Given the description of an element on the screen output the (x, y) to click on. 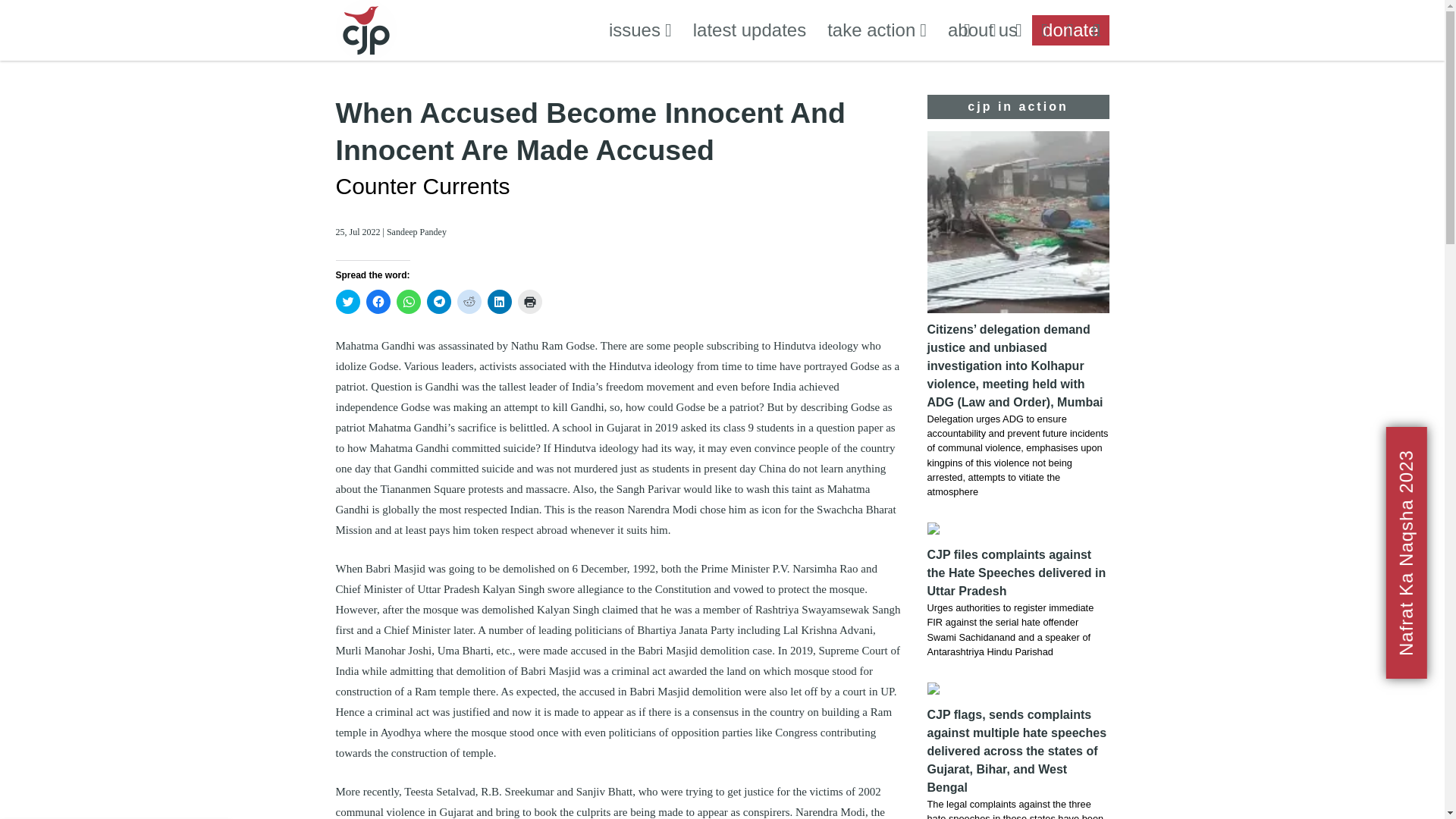
Click to share on Reddit (468, 301)
Click to share on LinkedIn (498, 301)
Click to print (528, 301)
issues (640, 30)
Click to share on WhatsApp (408, 301)
Click to share on Telegram (437, 301)
Click to share on Twitter (346, 301)
Click to share on Facebook (377, 301)
